Given the description of an element on the screen output the (x, y) to click on. 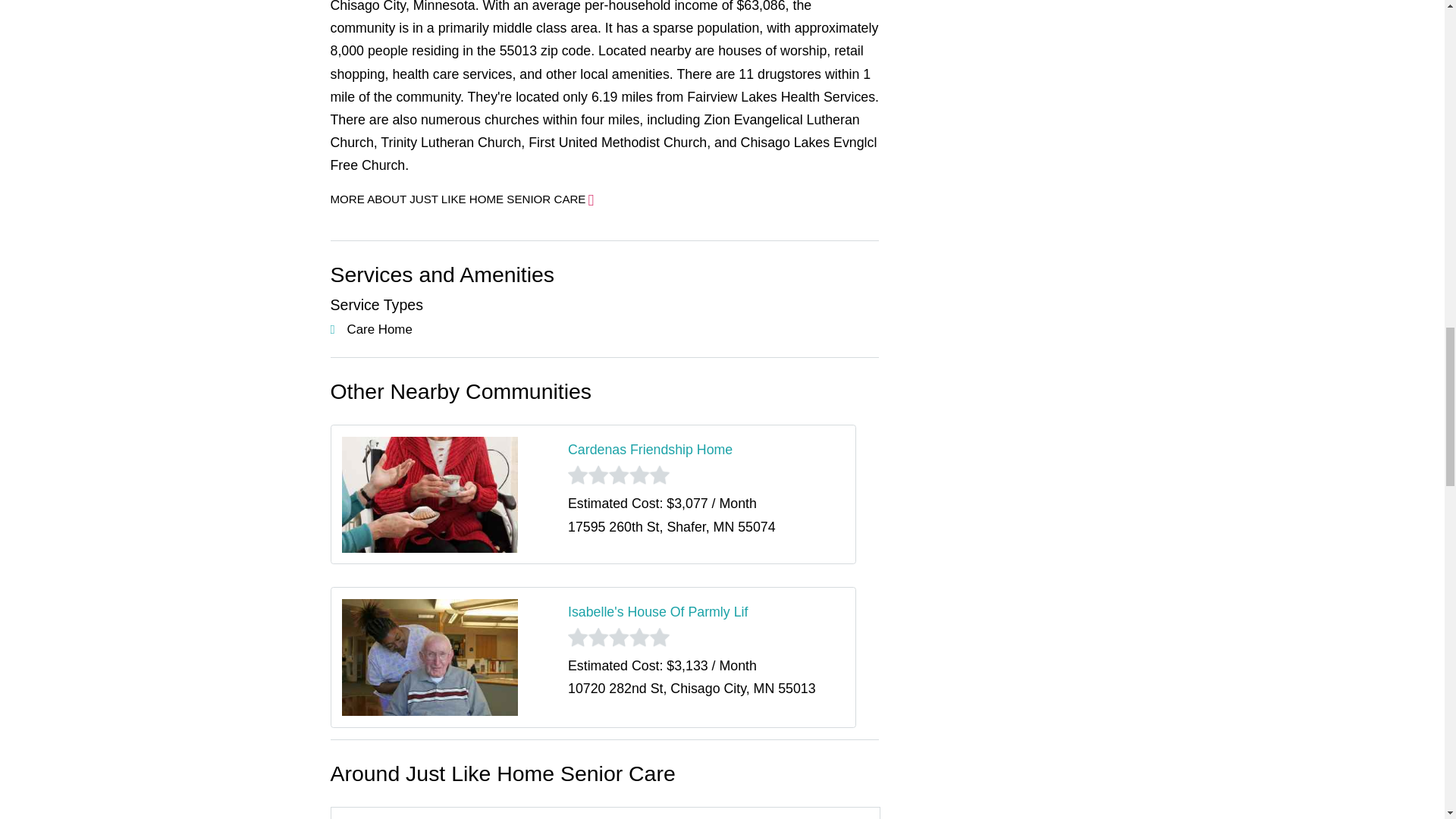
Cardenas Friendship Home in Shafer, MN (649, 449)
0 Star Rating (618, 637)
0 Star Rating (618, 475)
Isabelle's House Of Parmly Lif in Chisago City, MN (657, 611)
